Given the description of an element on the screen output the (x, y) to click on. 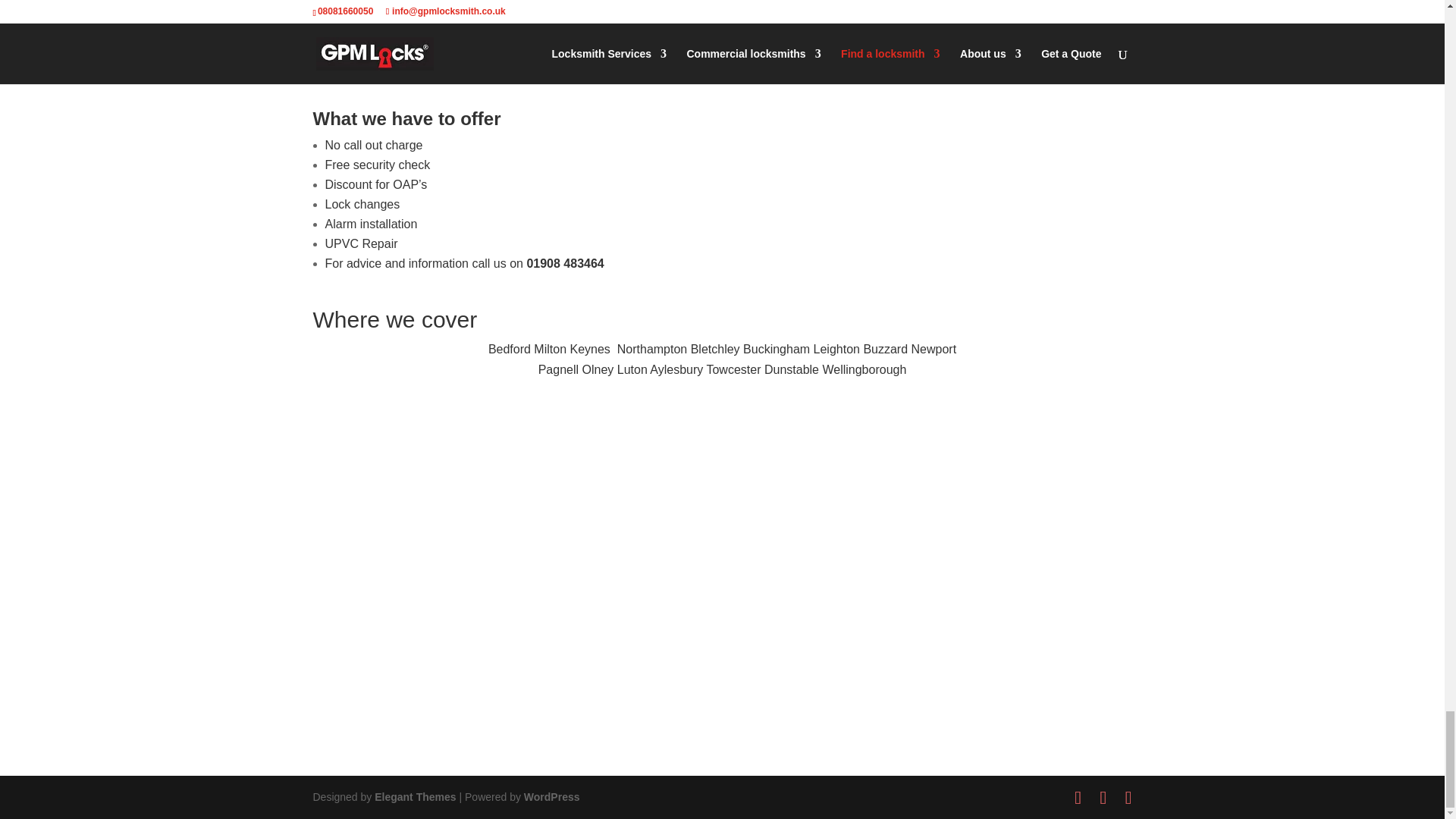
Premium WordPress Themes (414, 797)
bletchley locksmiths (722, 45)
bletchley locksmiths (722, 64)
